Given the description of an element on the screen output the (x, y) to click on. 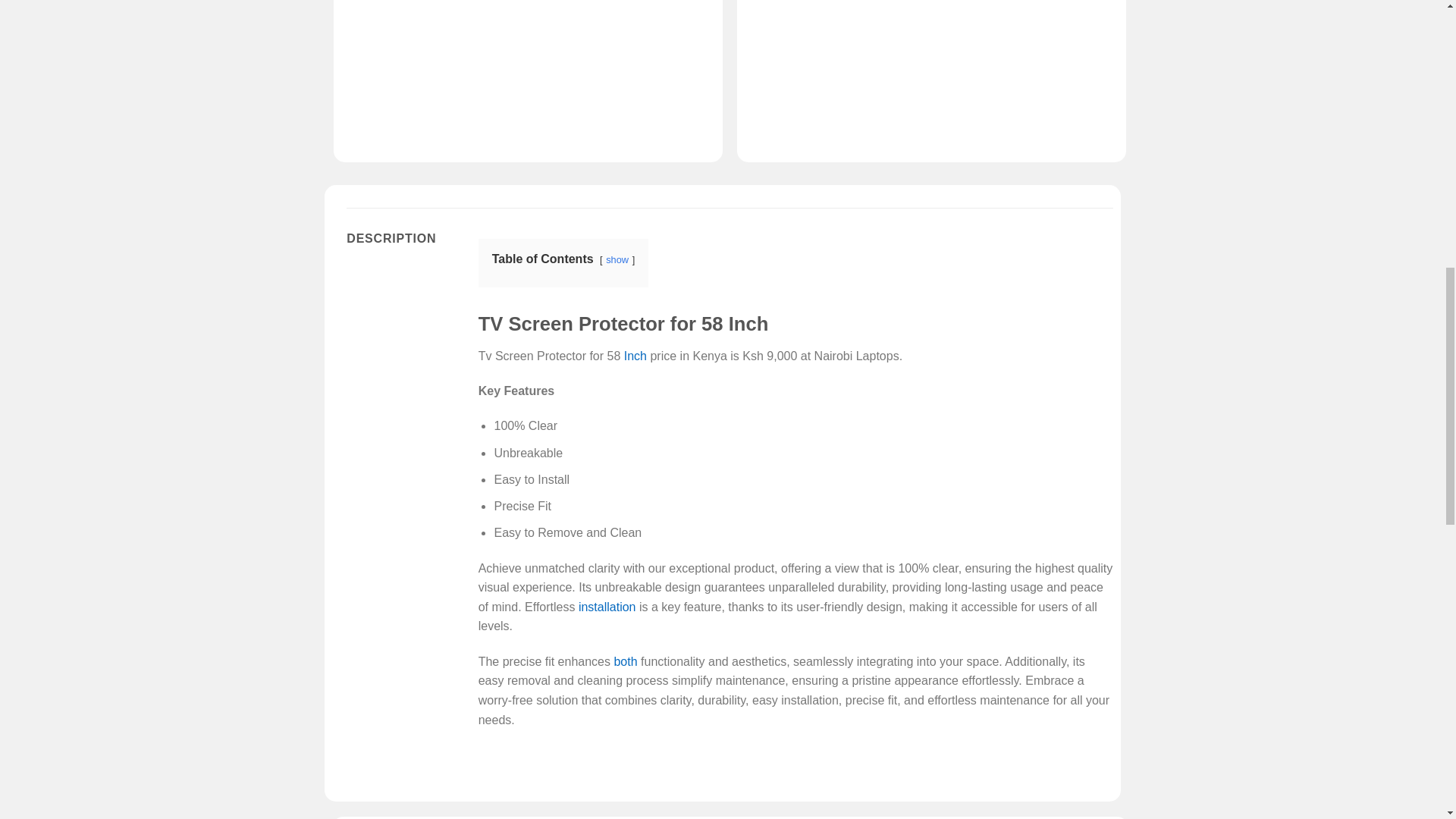
installation (607, 606)
show (616, 259)
both (624, 661)
Inch (635, 355)
